Given the description of an element on the screen output the (x, y) to click on. 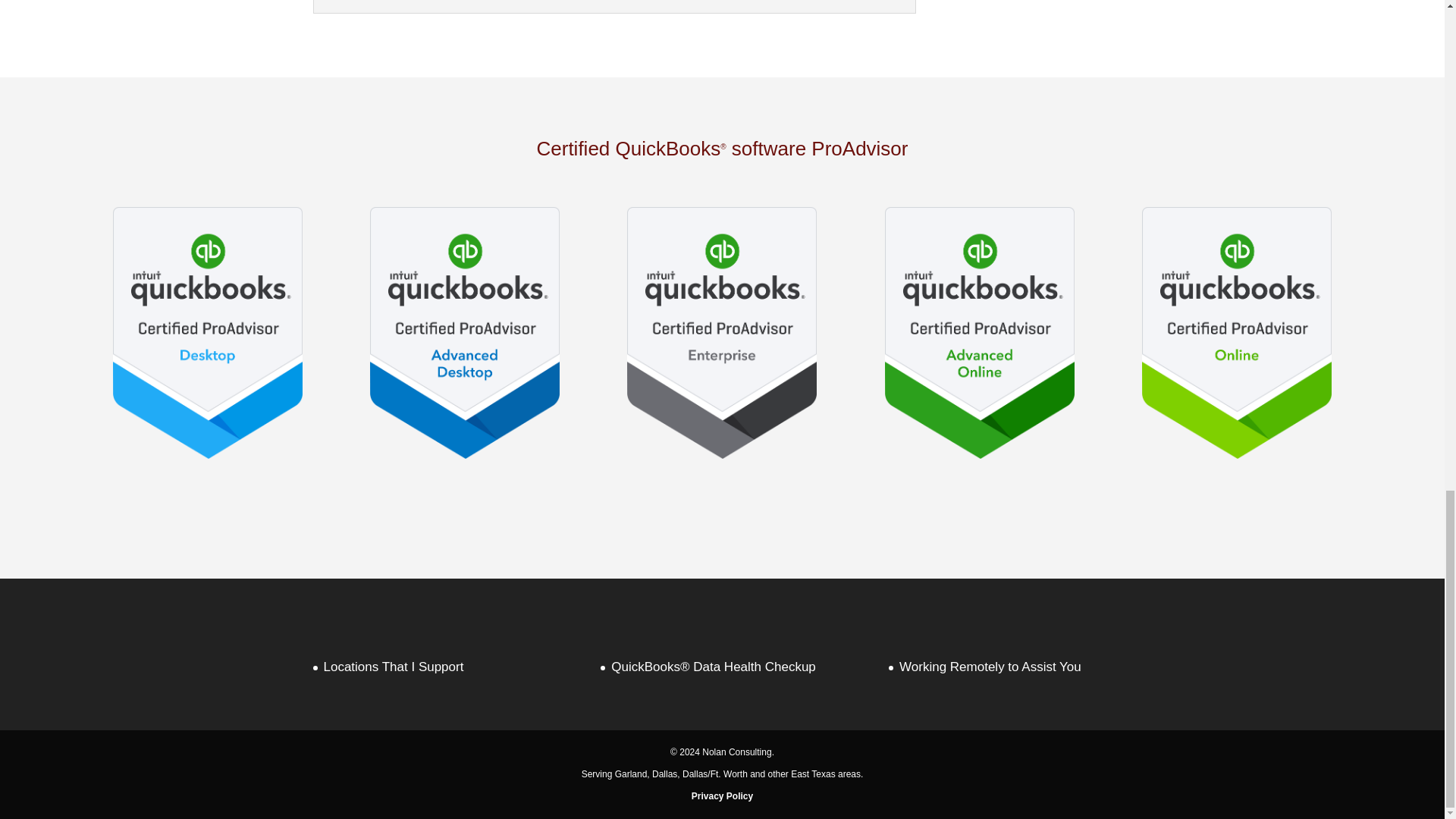
Working Remotely to Assist You (990, 667)
Privacy Policy (721, 796)
Locations That I Support (393, 667)
